Given the description of an element on the screen output the (x, y) to click on. 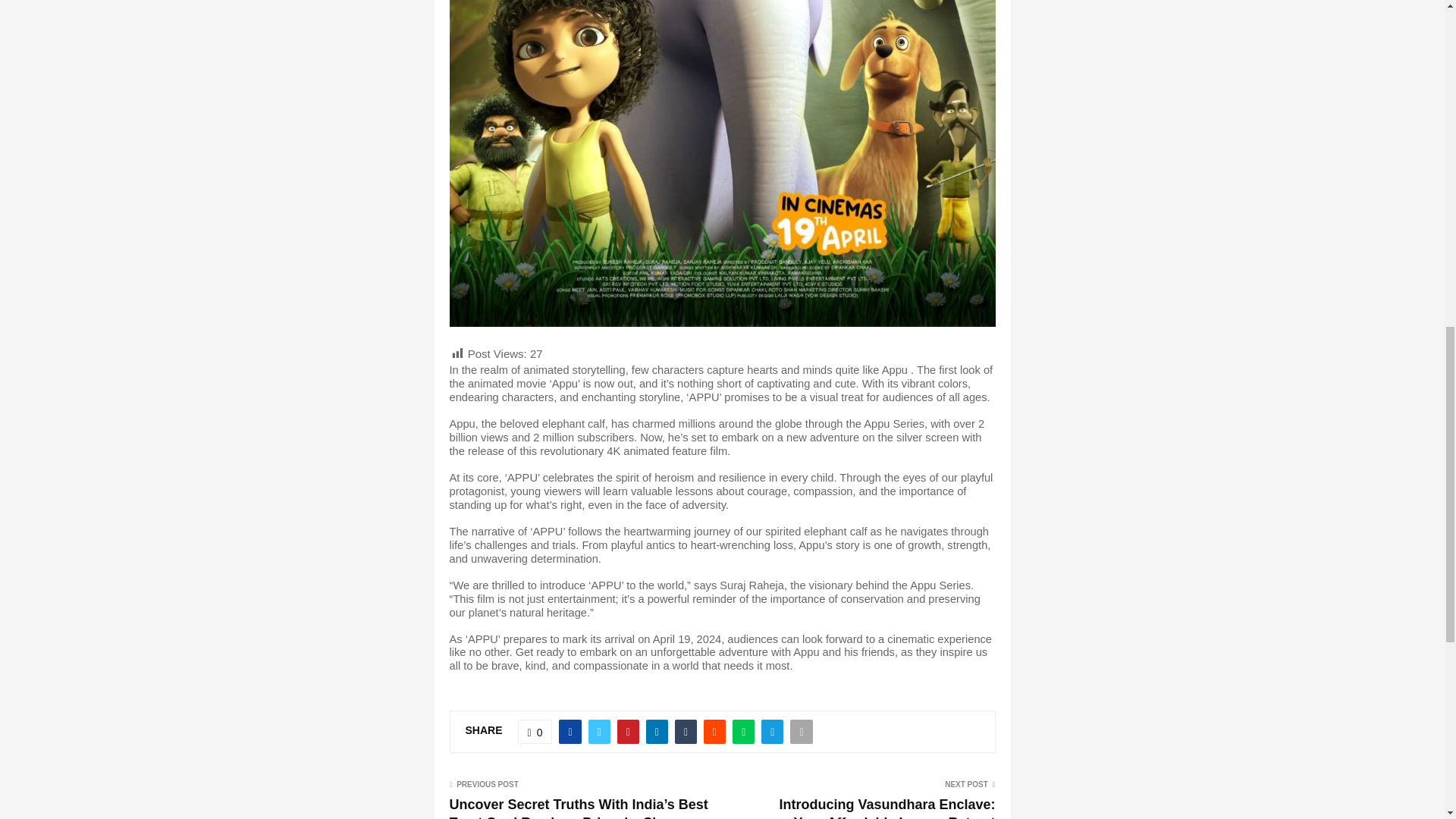
Like (535, 731)
0 (535, 731)
